Given the description of an element on the screen output the (x, y) to click on. 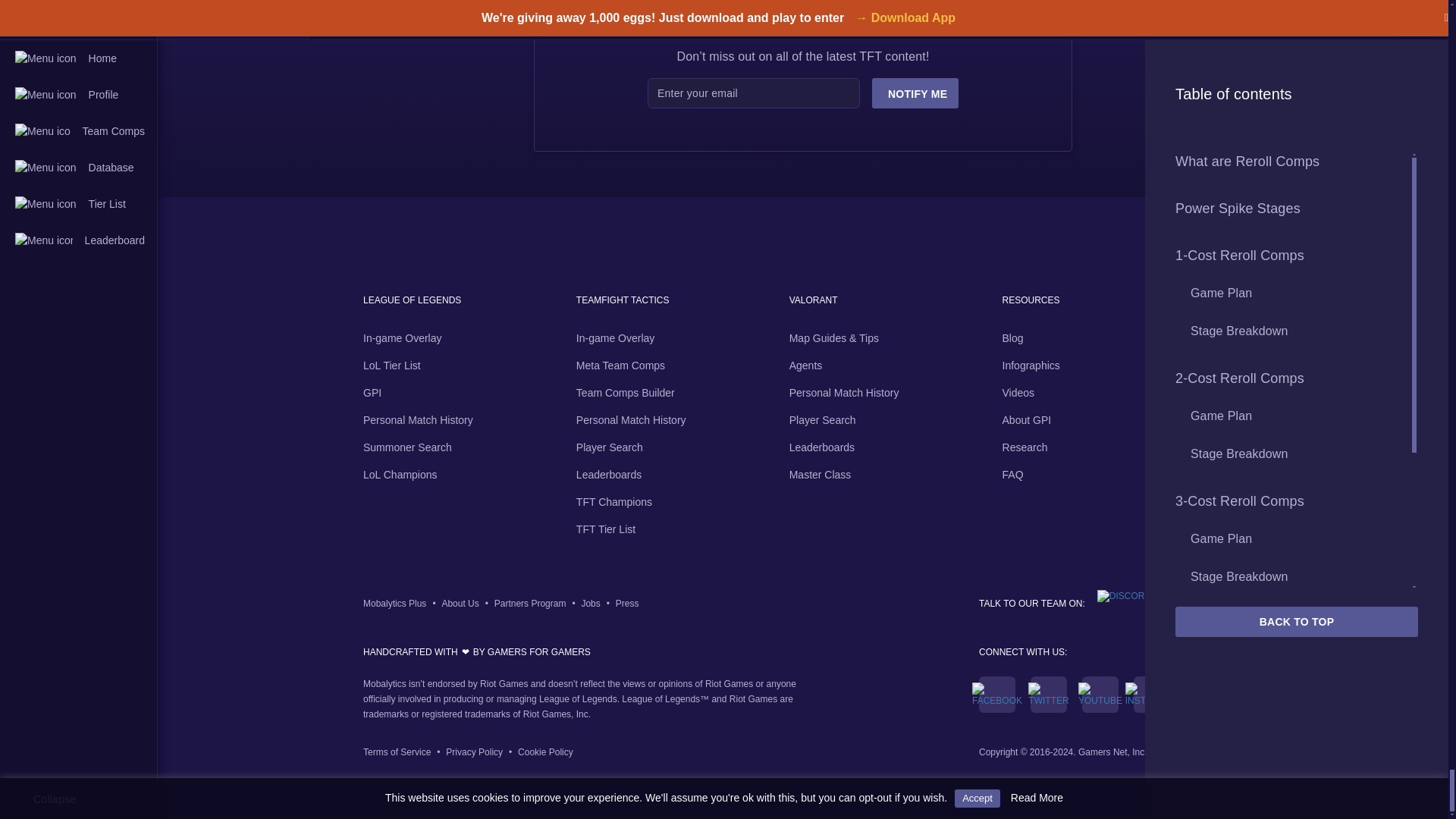
Facebook (997, 694)
Discord (1117, 599)
Notify Me (915, 92)
Twitter (1047, 694)
Discord (1117, 595)
YouTube (1100, 694)
